Given the description of an element on the screen output the (x, y) to click on. 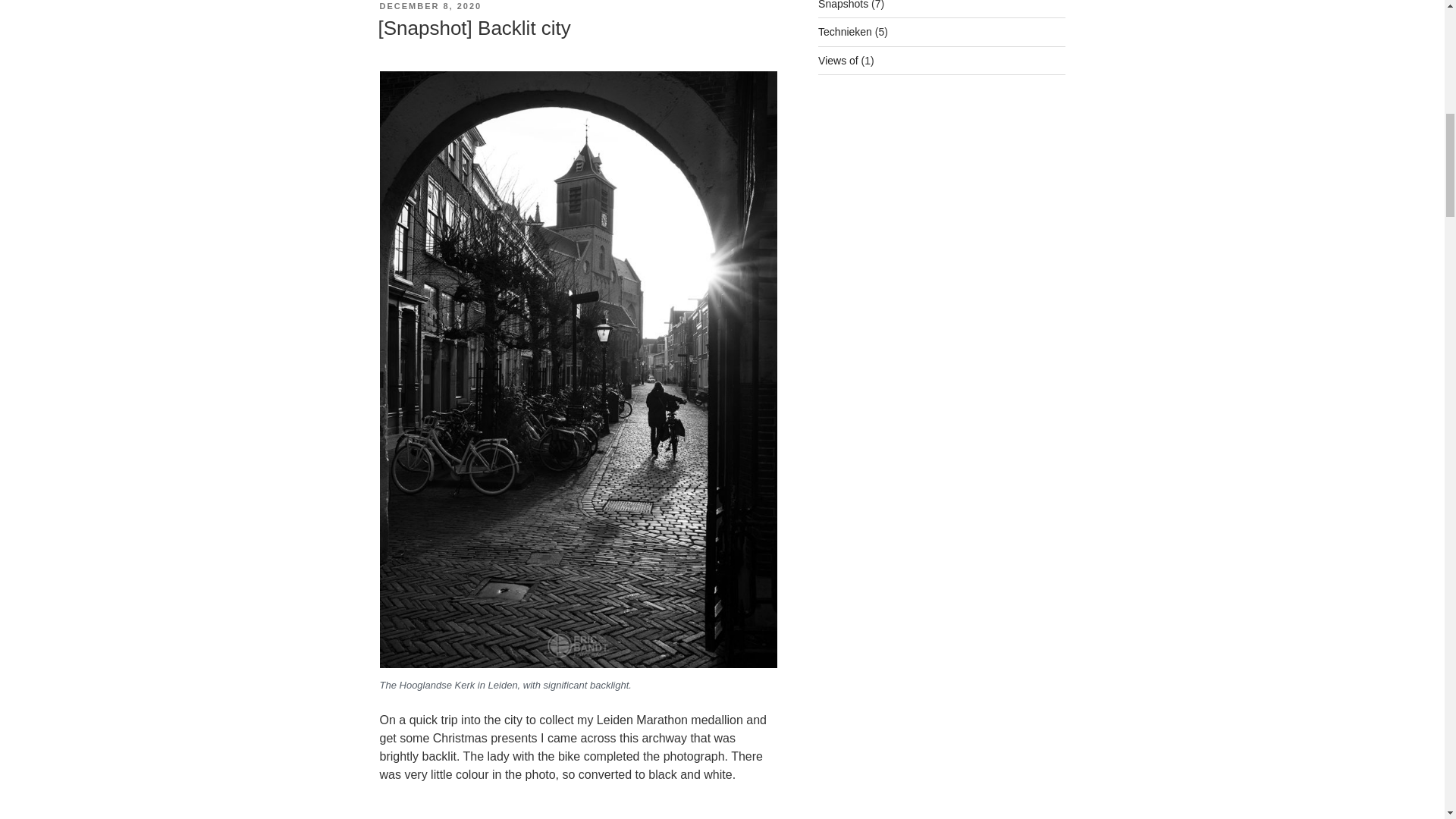
Technieken (845, 31)
DECEMBER 8, 2020 (429, 5)
Views of (838, 60)
Snapshots (842, 4)
